Given the description of an element on the screen output the (x, y) to click on. 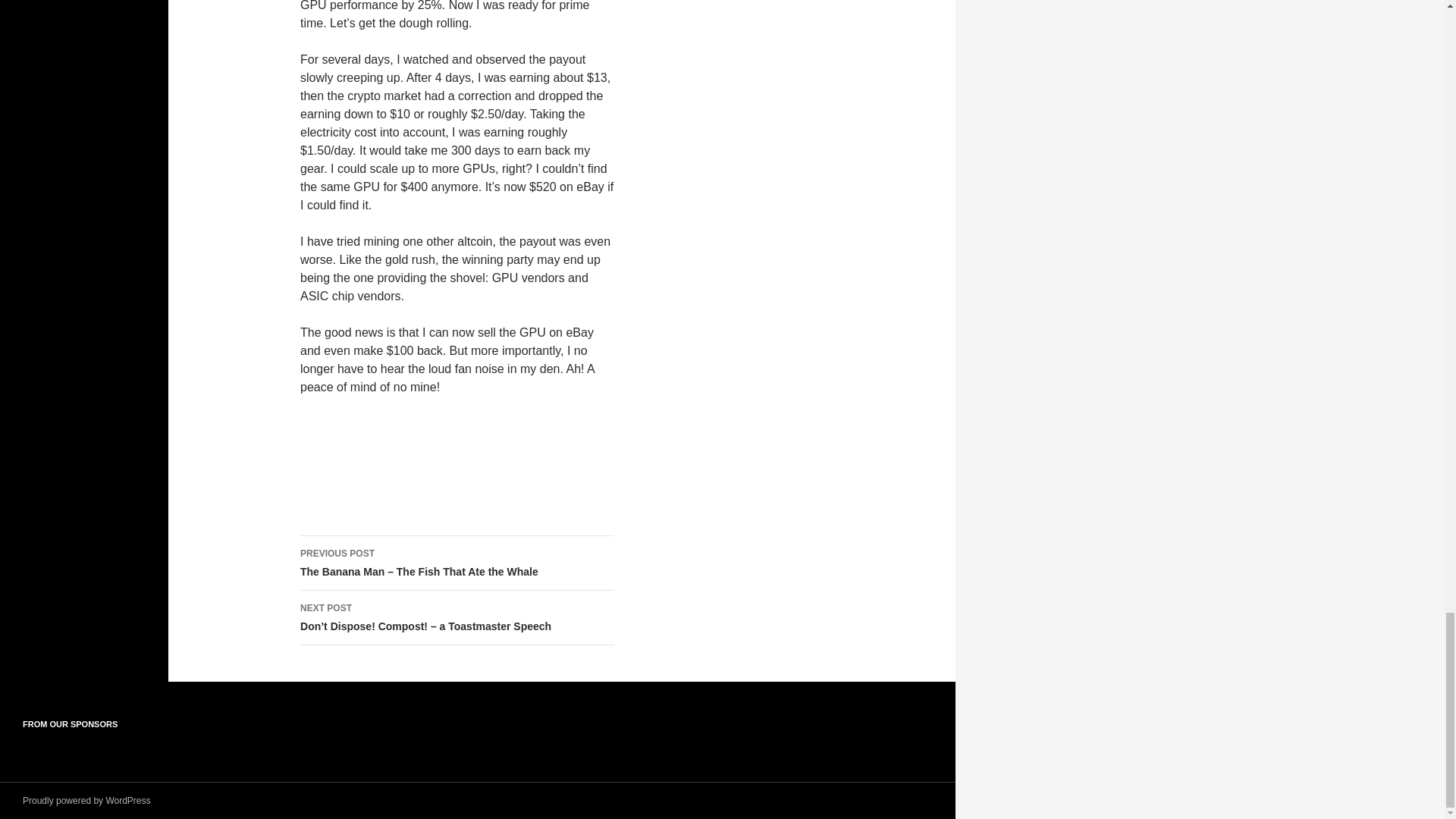
Proudly powered by WordPress (87, 800)
